Given the description of an element on the screen output the (x, y) to click on. 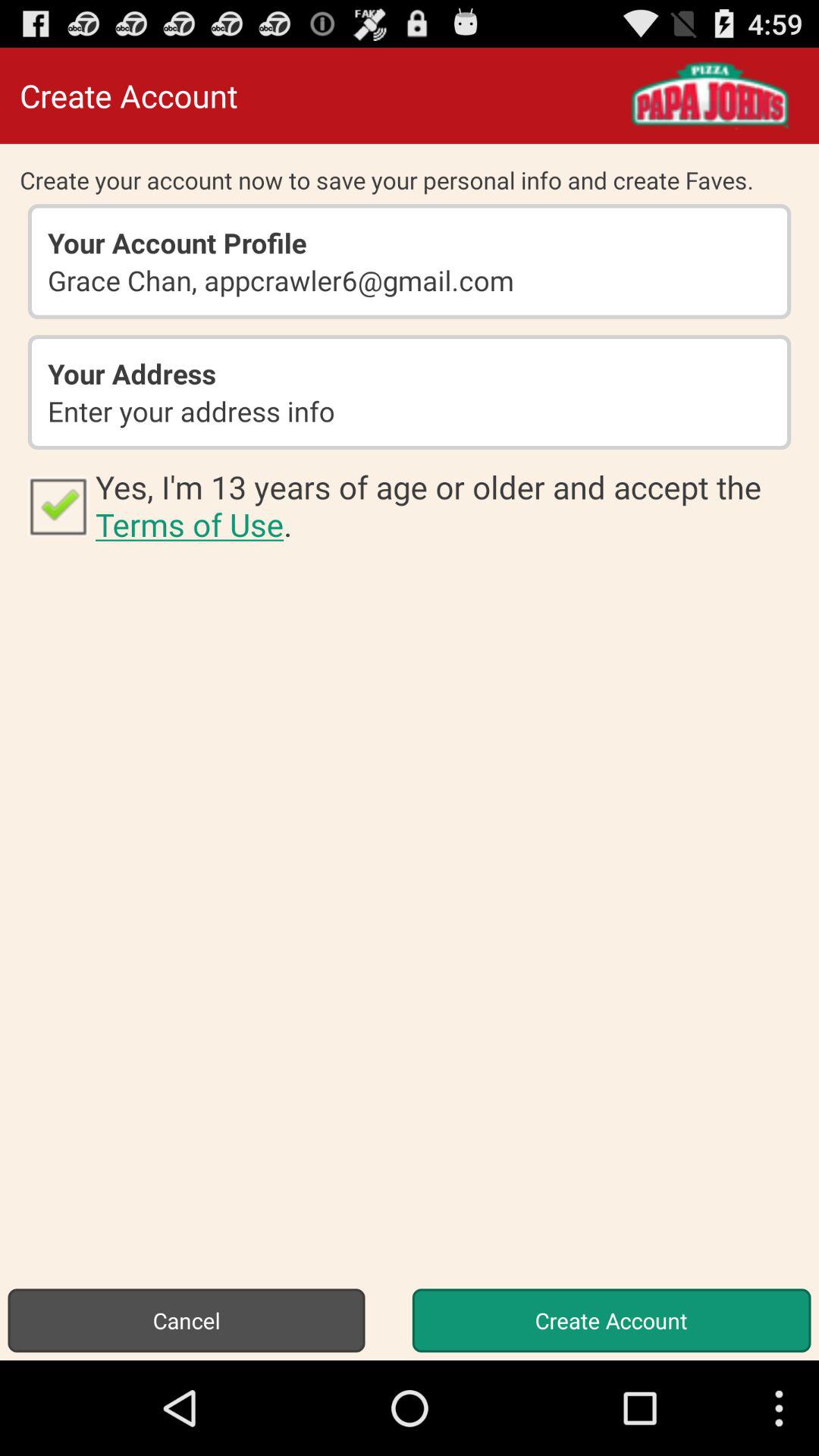
flip until yes i m icon (447, 505)
